Given the description of an element on the screen output the (x, y) to click on. 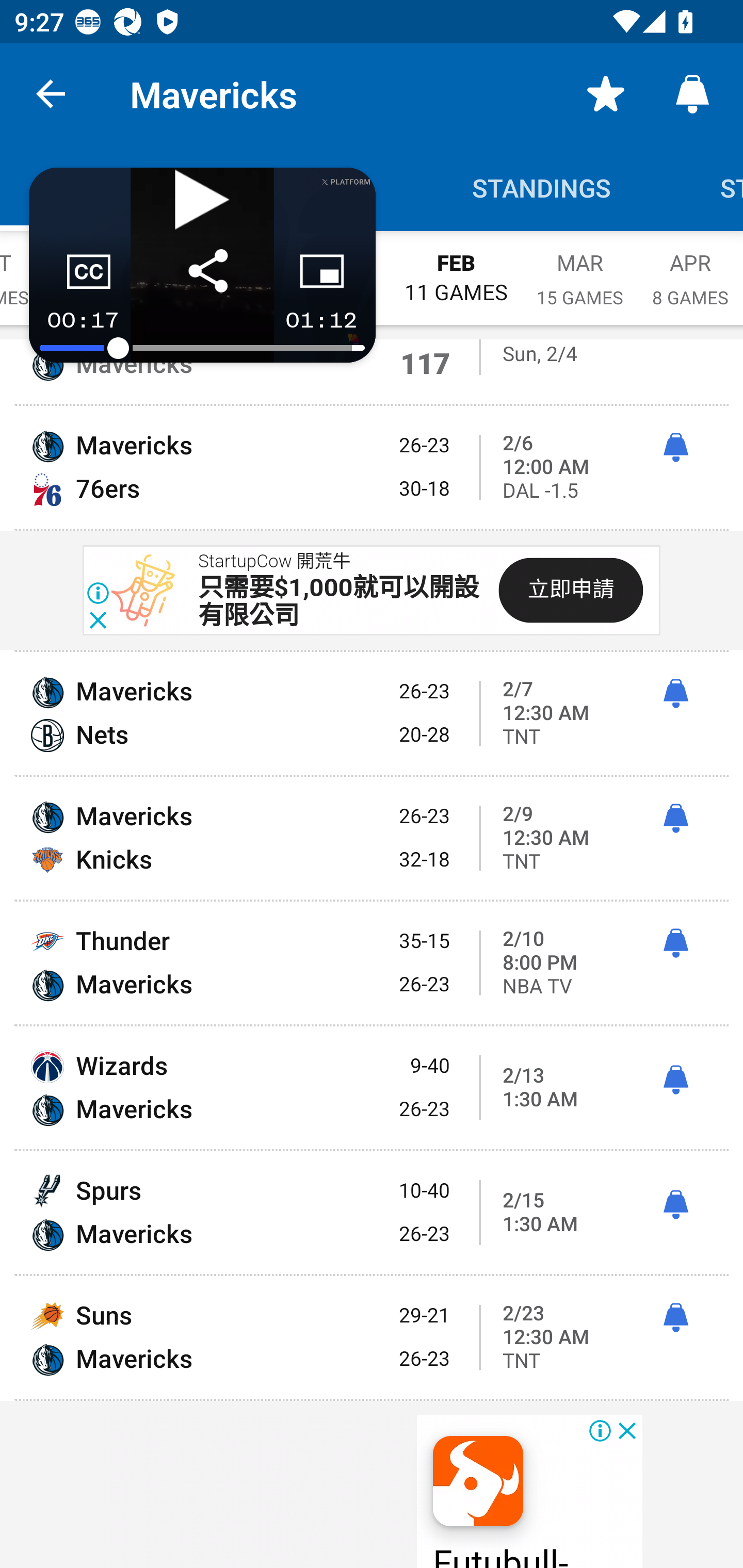
back.button (50, 93)
Favorite toggle (605, 93)
Alerts (692, 93)
Standings STANDINGS (541, 187)
NOV 14 GAMES (101, 268)
DEC 16 GAMES (216, 268)
JAN 16 GAMES (332, 268)
FEB 11 GAMES (456, 267)
MAR 15 GAMES (579, 268)
APR 8 GAMES (690, 268)
ì (675, 447)
Mavericks 26-23 Nets 20-28 2/7 12:30 AM ì TNT (371, 713)
ì (675, 693)
Mavericks 26-23 Knicks 32-18 2/9 12:30 AM ì TNT (371, 838)
ì (675, 818)
ì (675, 942)
Wizards 9-40 Mavericks 26-23 2/13 1:30 AM ì (371, 1088)
ì (675, 1080)
Spurs 10-40 Mavericks 26-23 2/15 1:30 AM ì (371, 1211)
ì (675, 1204)
Suns 29-21 Mavericks 26-23 2/23 12:30 AM ì TNT (371, 1337)
ì (675, 1317)
